Given the description of an element on the screen output the (x, y) to click on. 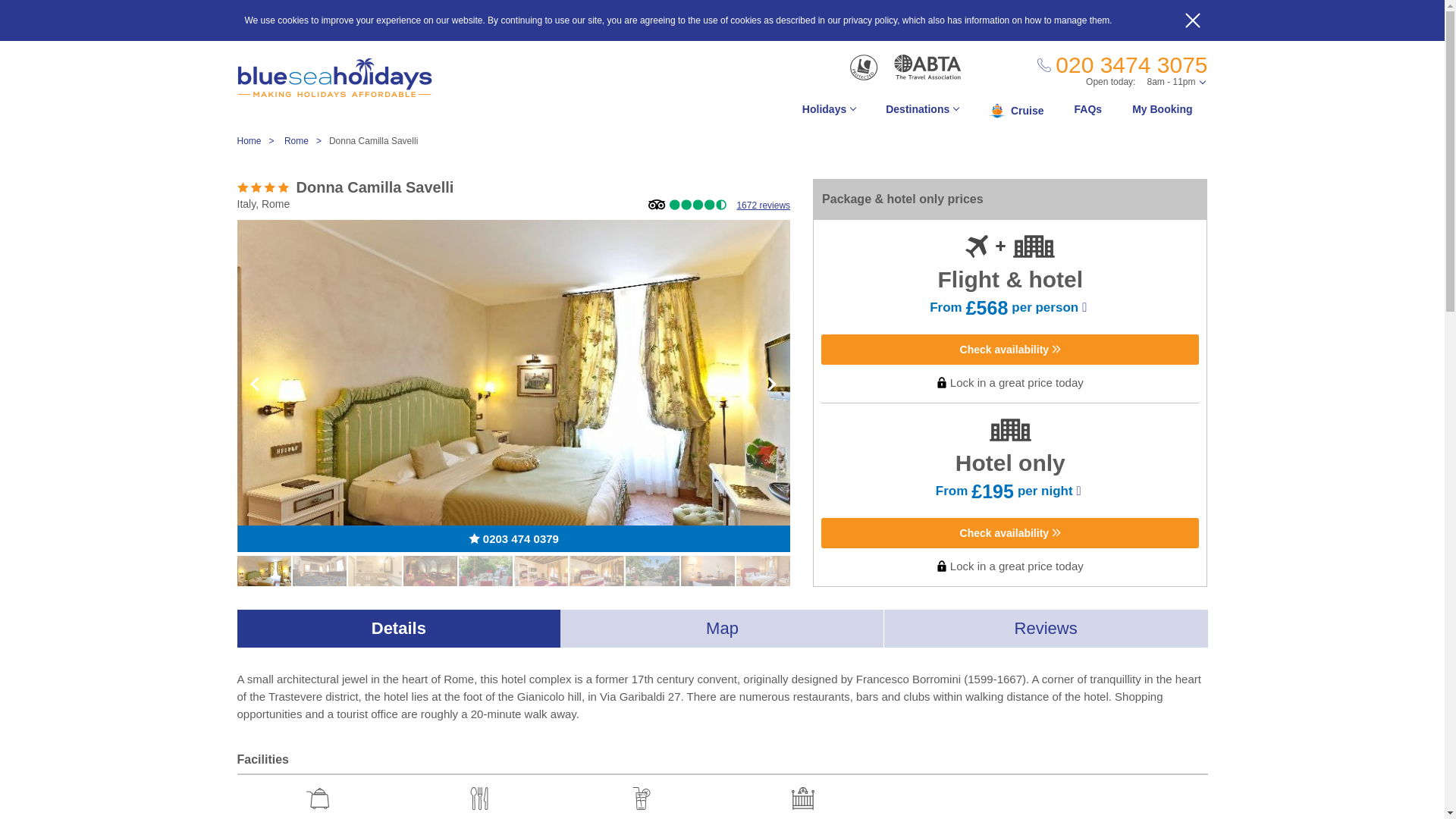
Holidays (828, 112)
020 3474 3075 (1121, 65)
Destinations (922, 112)
